Given the description of an element on the screen output the (x, y) to click on. 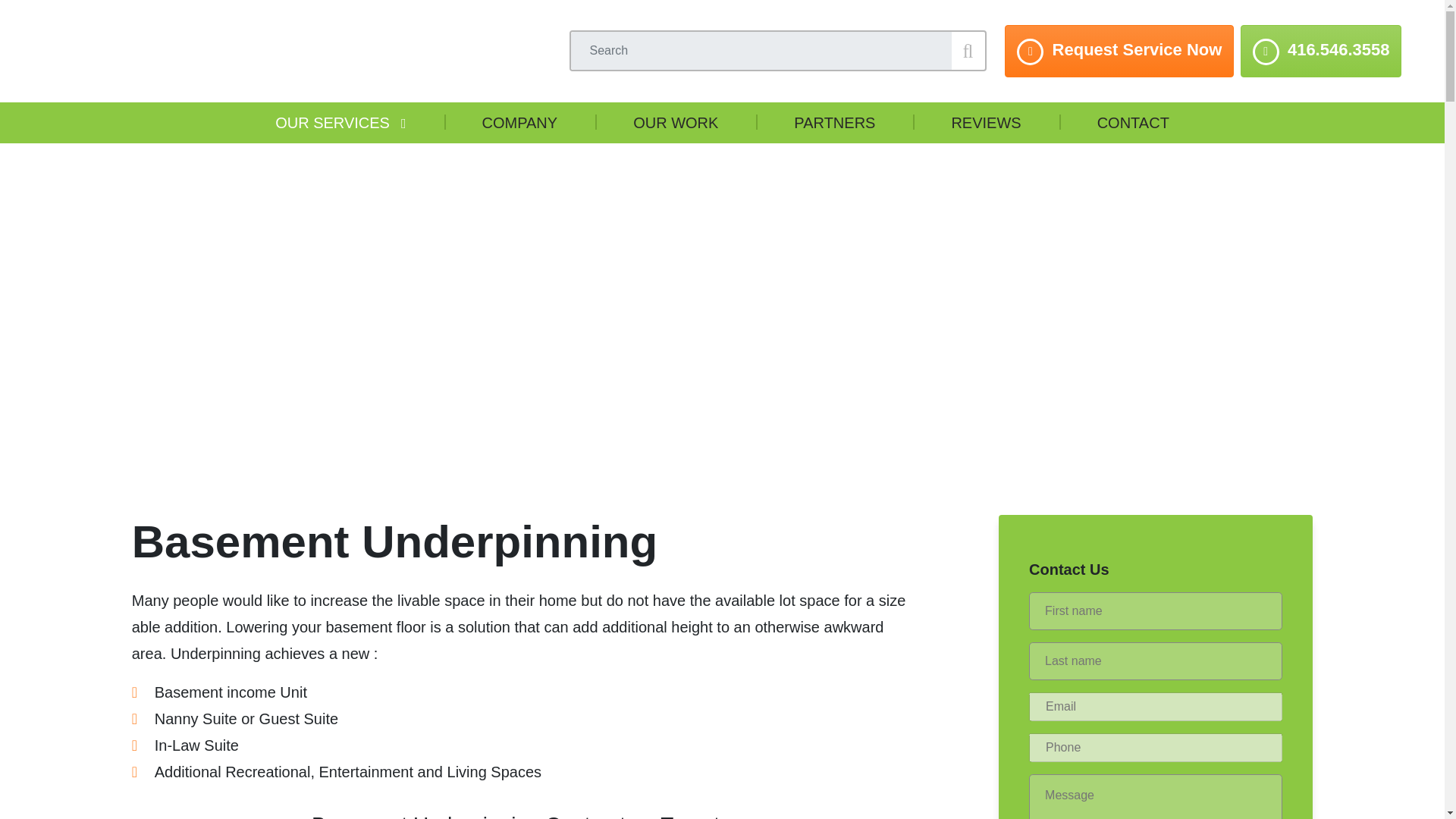
COMPANY (519, 122)
Our Services (338, 122)
CONTACT (1133, 122)
OUR SERVICES (338, 122)
416.546.3558 (1321, 50)
Home (181, 321)
Request Service Now (1118, 50)
OUR WORK (675, 122)
Reviews (985, 122)
Basement Underpinning (339, 321)
